Given the description of an element on the screen output the (x, y) to click on. 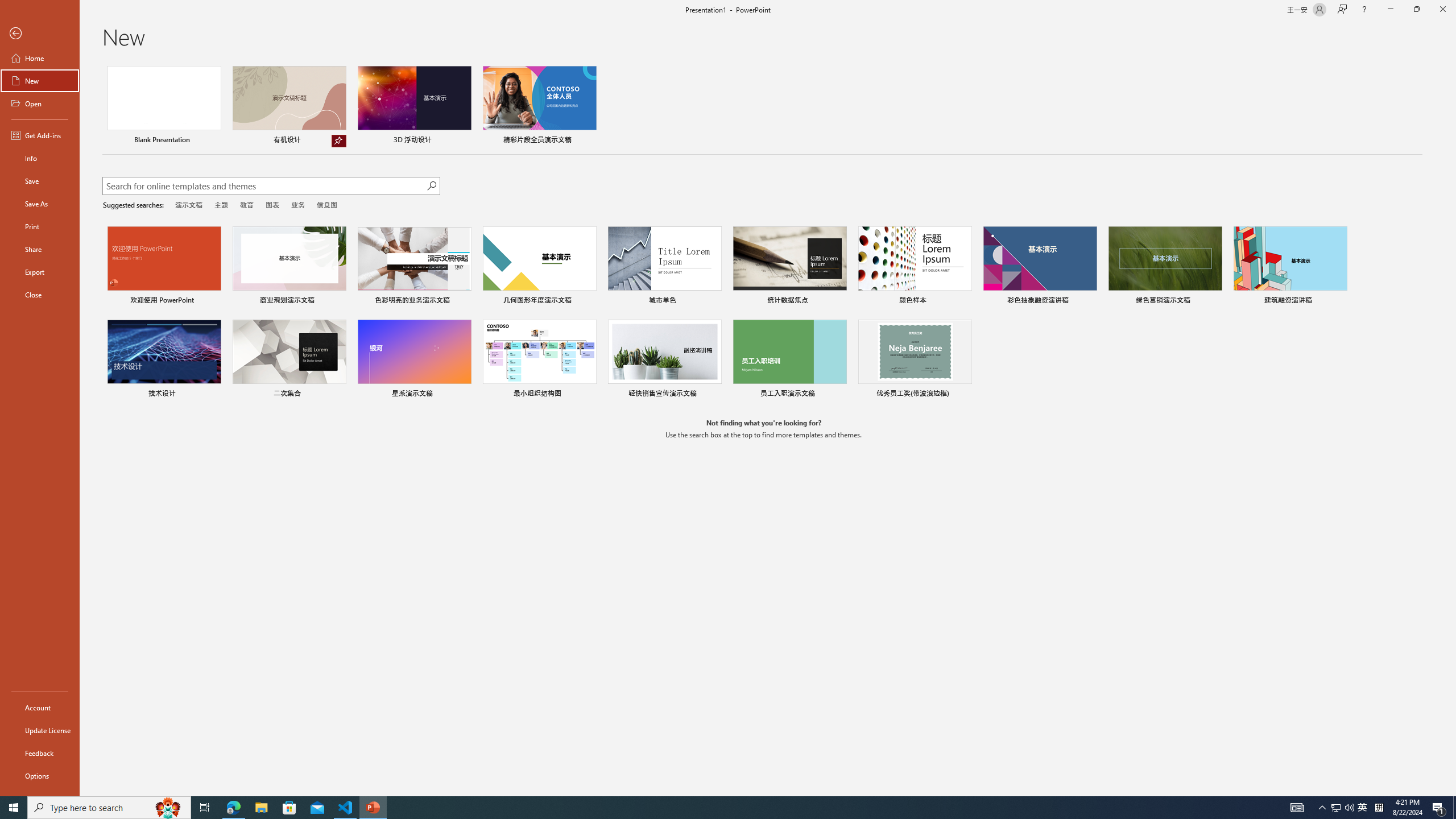
Options (40, 775)
Search for online templates and themes (264, 187)
